Given the description of an element on the screen output the (x, y) to click on. 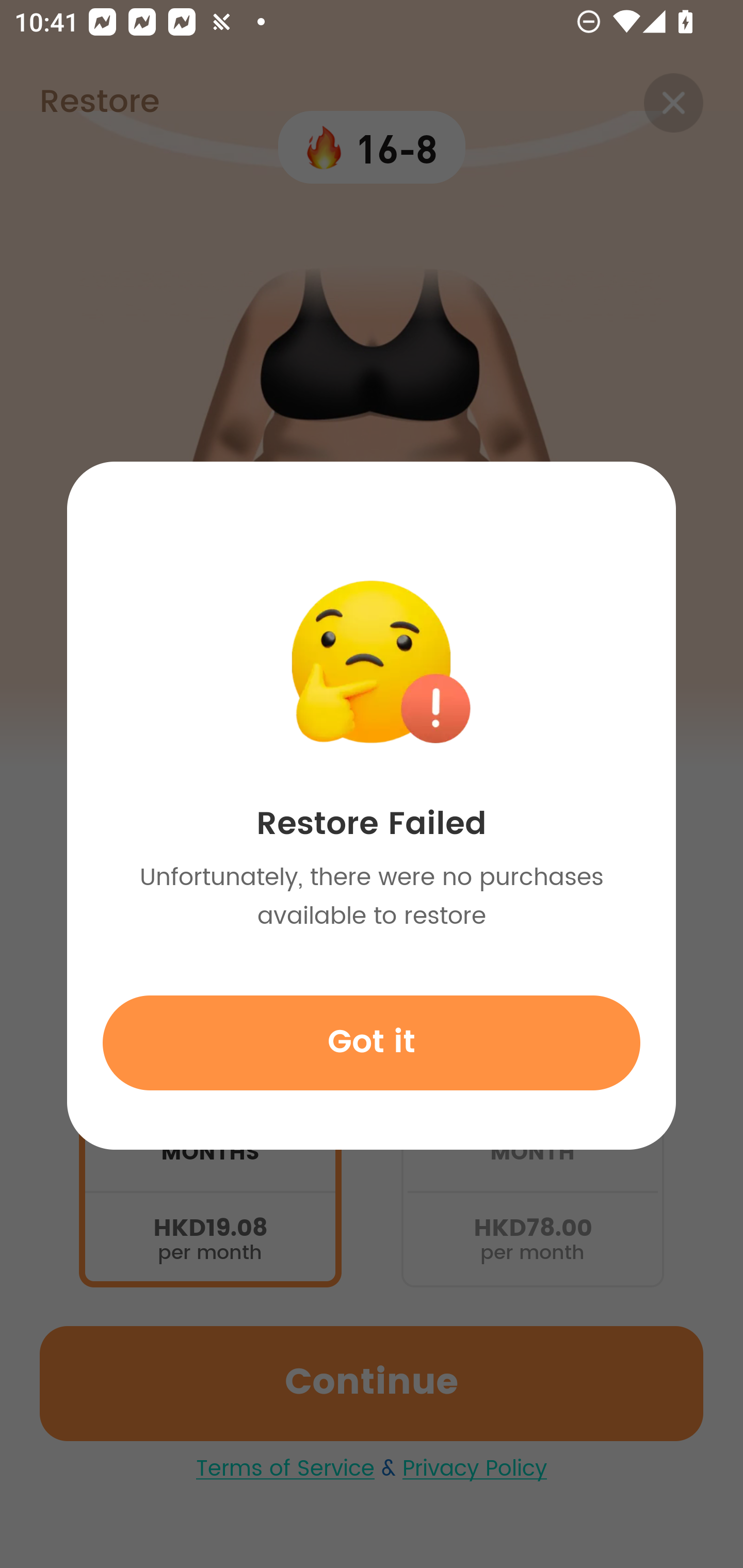
Got it (371, 1042)
